Given the description of an element on the screen output the (x, y) to click on. 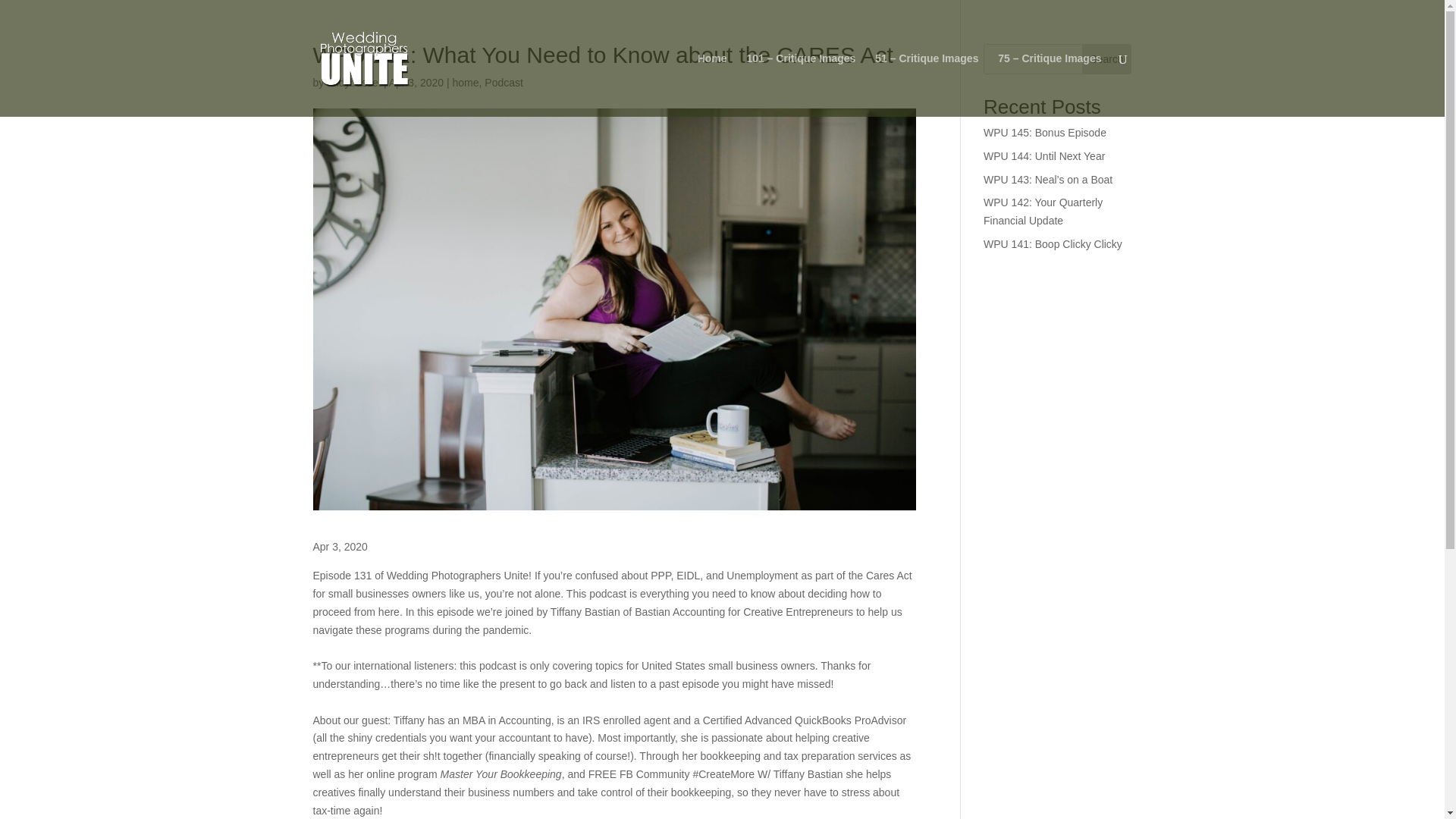
Podcast (503, 82)
WPU 144: Until Next Year (1044, 155)
Home (711, 85)
WPU 142: Your Quarterly Financial Update (1043, 211)
WPU 145: Bonus Episode (1045, 132)
andybuscei (353, 82)
home (465, 82)
Posts by andybuscei (353, 82)
Search (1106, 59)
WPU 141: Boop Clicky Clicky (1053, 244)
